Given the description of an element on the screen output the (x, y) to click on. 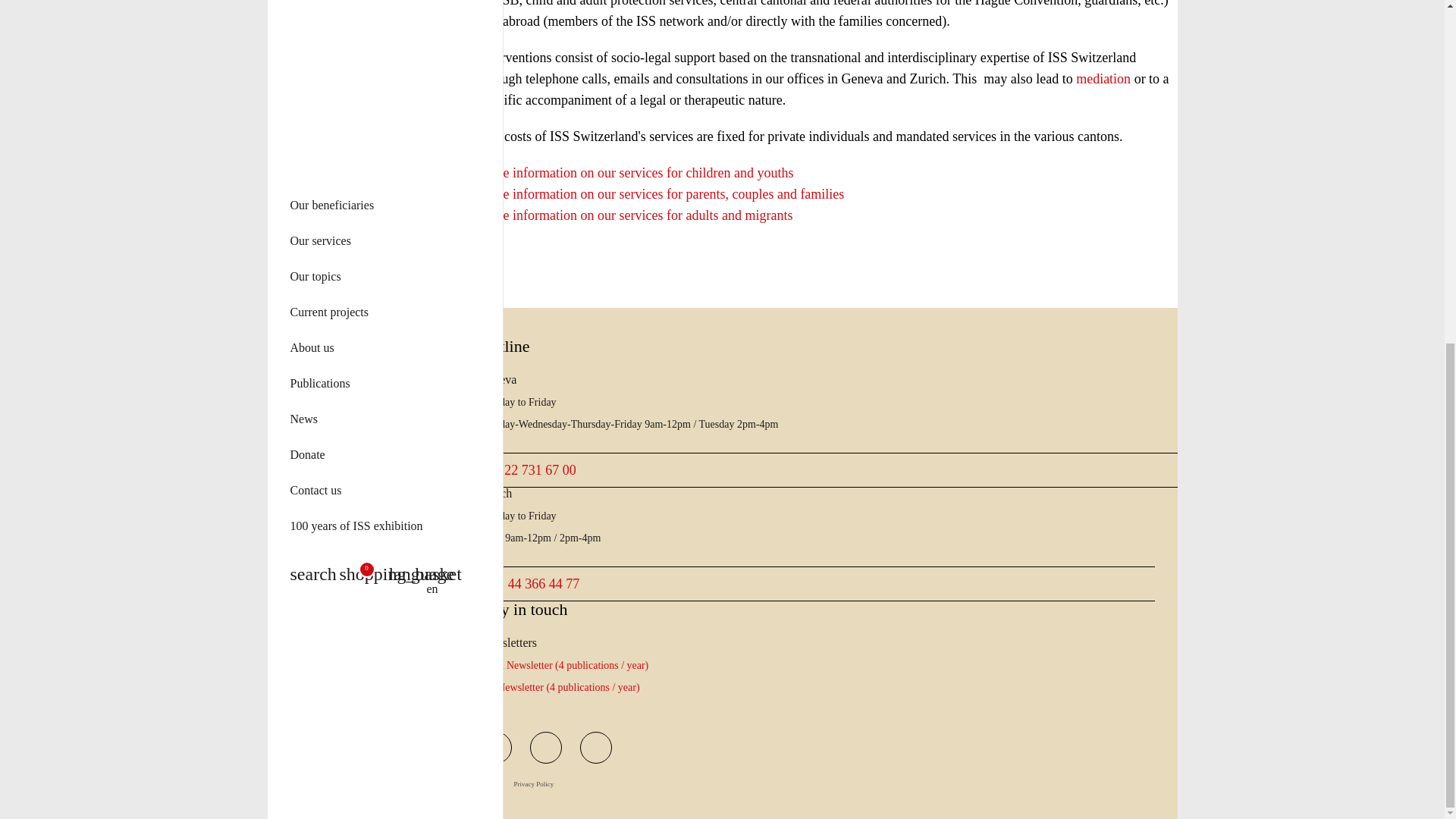
Langue (413, 4)
